Given the description of an element on the screen output the (x, y) to click on. 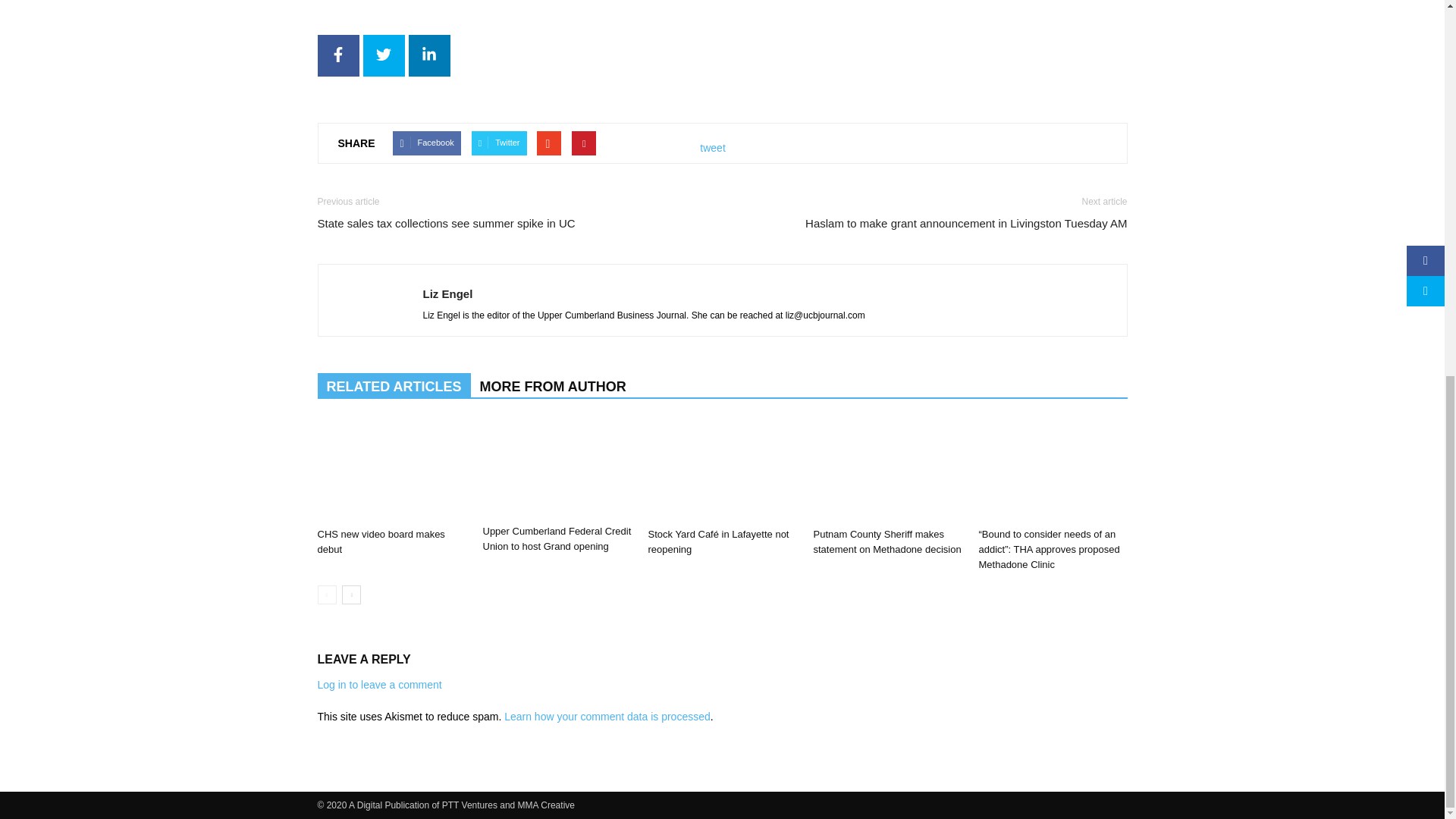
CHS new video board makes debut (391, 470)
Upper Cumberland Federal Credit Union to host Grand opening (555, 468)
Upper Cumberland Federal Credit Union to host Grand opening (555, 538)
CHS new video board makes debut (380, 541)
